Given the description of an element on the screen output the (x, y) to click on. 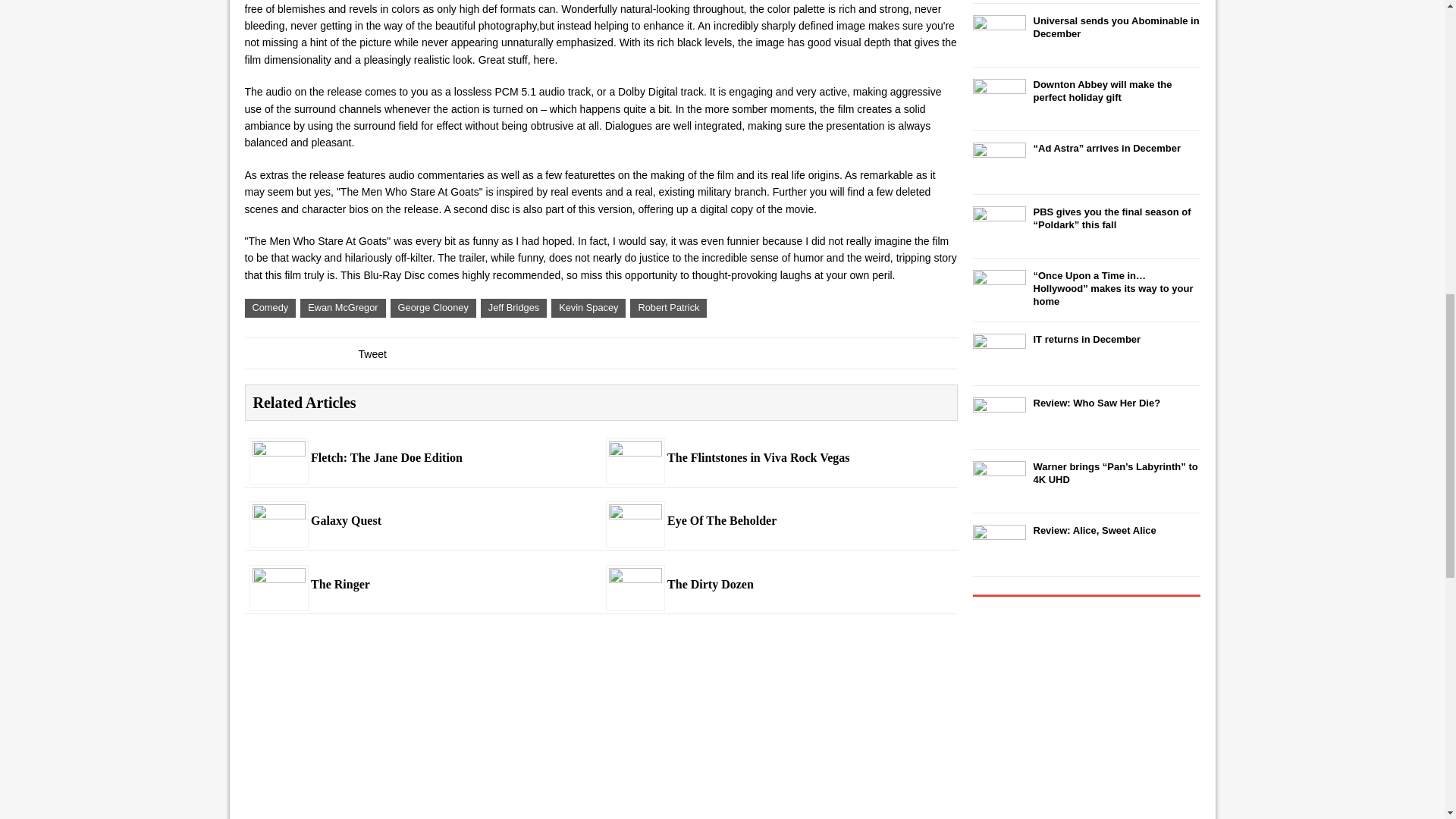
Comedy (269, 307)
The Flintstones in Viva Rock Vegas (635, 472)
Eye Of The Beholder (777, 521)
The Dirty Dozen (635, 598)
The Flintstones in Viva Rock Vegas (777, 458)
Ewan McGregor (342, 307)
George Clooney (433, 307)
Fletch: The Jane Doe Edition (421, 458)
Tweet (371, 354)
Jeff Bridges (513, 307)
The Ringer (278, 598)
Fletch: The Jane Doe Edition (278, 472)
Eye Of The Beholder (635, 535)
Robert Patrick (668, 307)
The Ringer (421, 584)
